Given the description of an element on the screen output the (x, y) to click on. 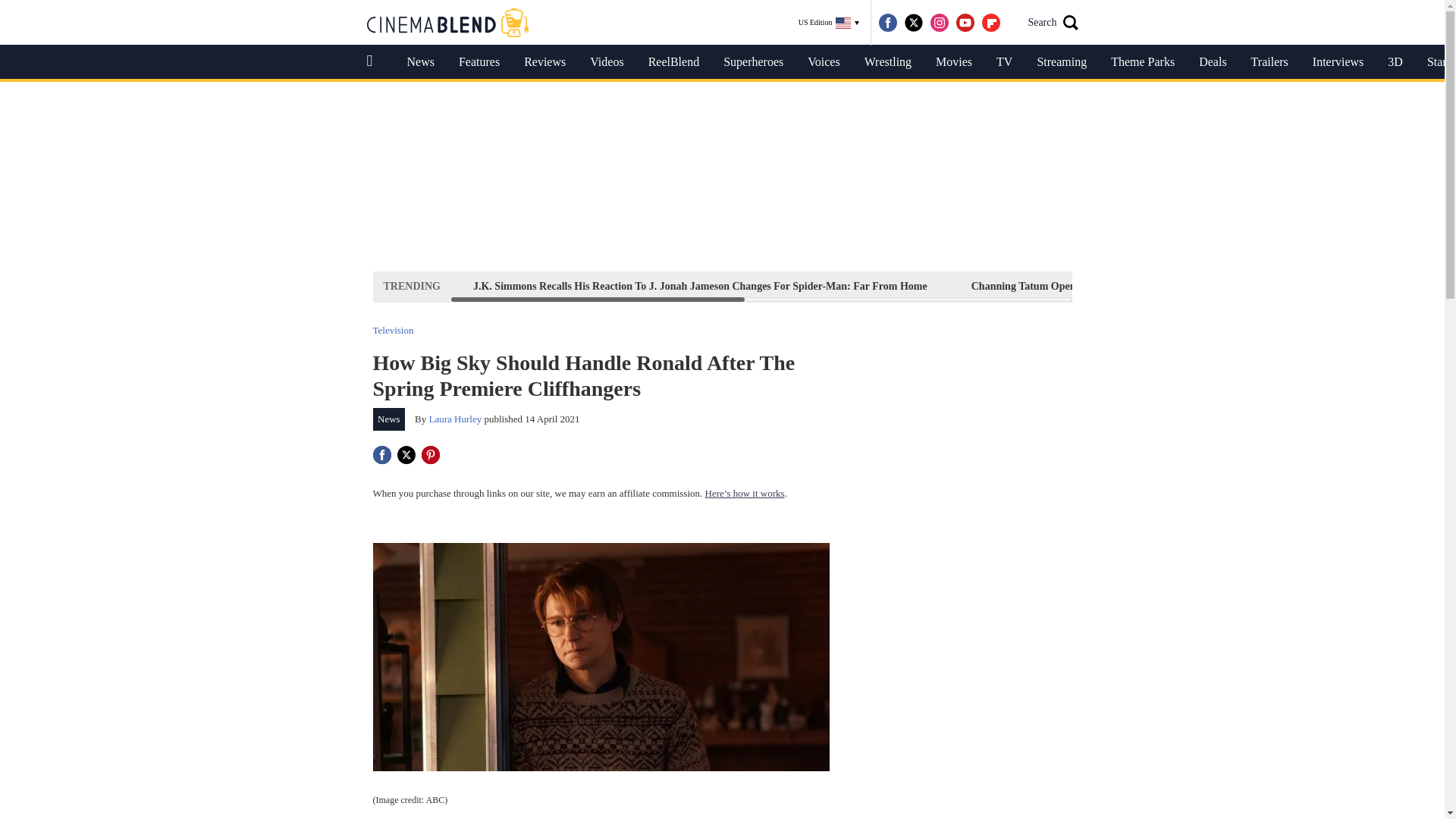
Trailers (1269, 61)
Theme Parks (1142, 61)
Reviews (545, 61)
Videos (606, 61)
News (419, 61)
Movies (953, 61)
Interviews (1337, 61)
Channing Tatum Opens Up On The Origins Of His Gambit Accent (1122, 286)
Streaming (1062, 61)
US Edition (828, 22)
